Given the description of an element on the screen output the (x, y) to click on. 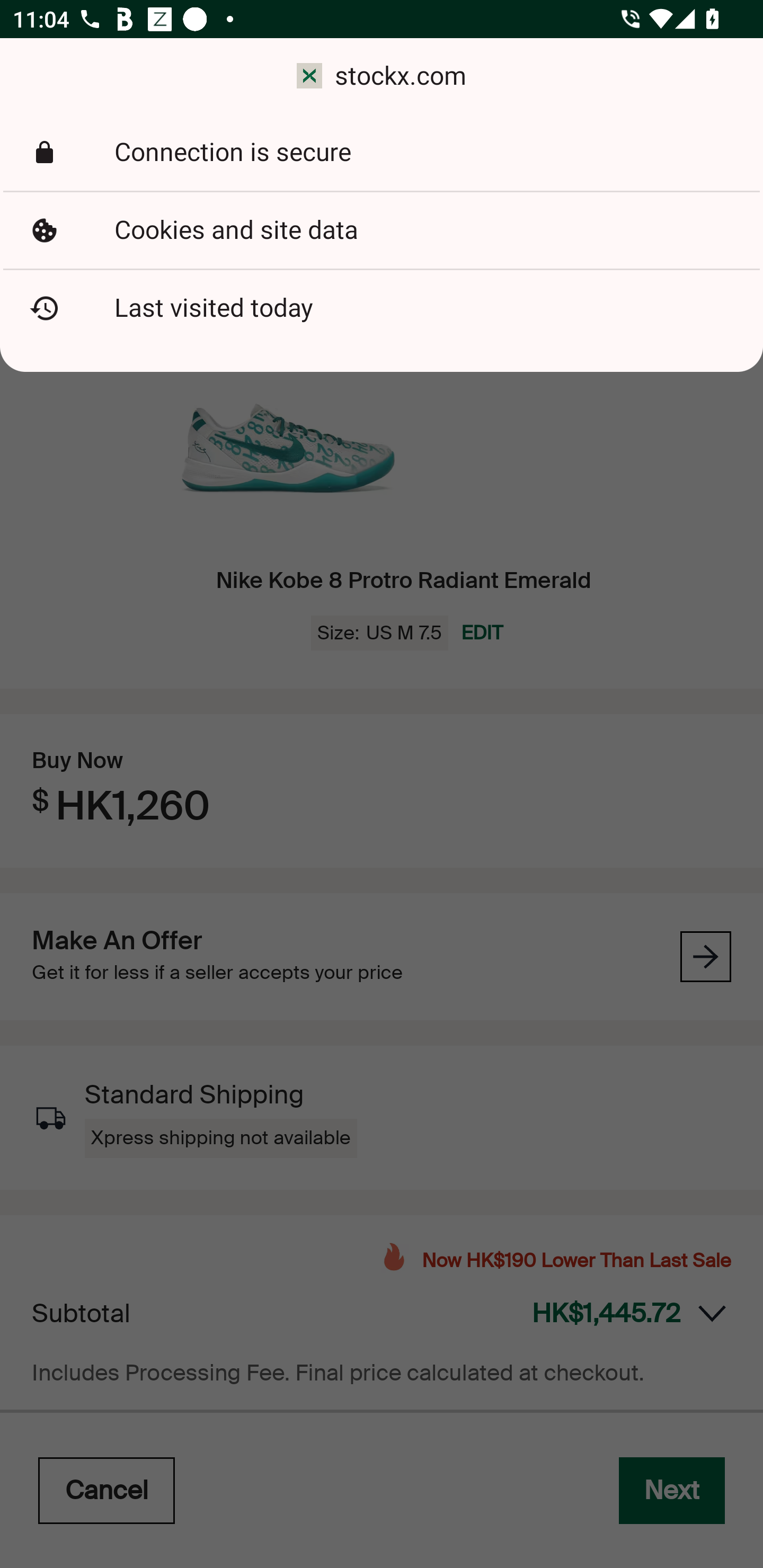
stockx.com (381, 75)
Connection is secure (381, 152)
Cookies and site data (381, 230)
Last visited today (381, 307)
